Given the description of an element on the screen output the (x, y) to click on. 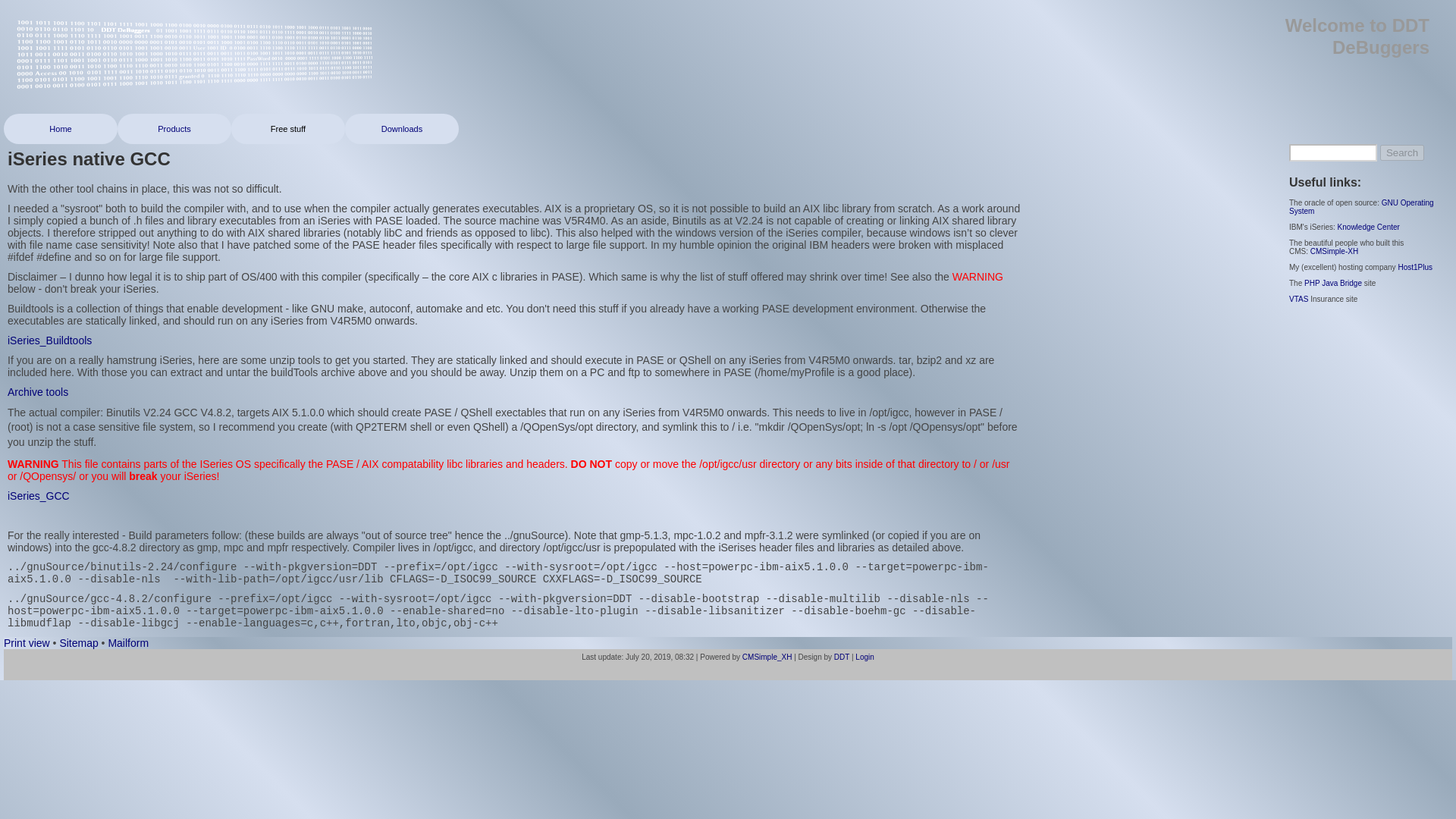
GNU Operating System (1361, 207)
Login (864, 656)
Host1Plus (1414, 266)
Search (1401, 152)
Home (60, 128)
Knowledge Center (1368, 226)
Free stuff (288, 128)
VTAS (1297, 298)
Search terms (1332, 152)
DDT (841, 656)
Downloads (401, 128)
Mailform (127, 643)
Sitemap (78, 643)
Archive tools (37, 391)
Products (174, 128)
